Given the description of an element on the screen output the (x, y) to click on. 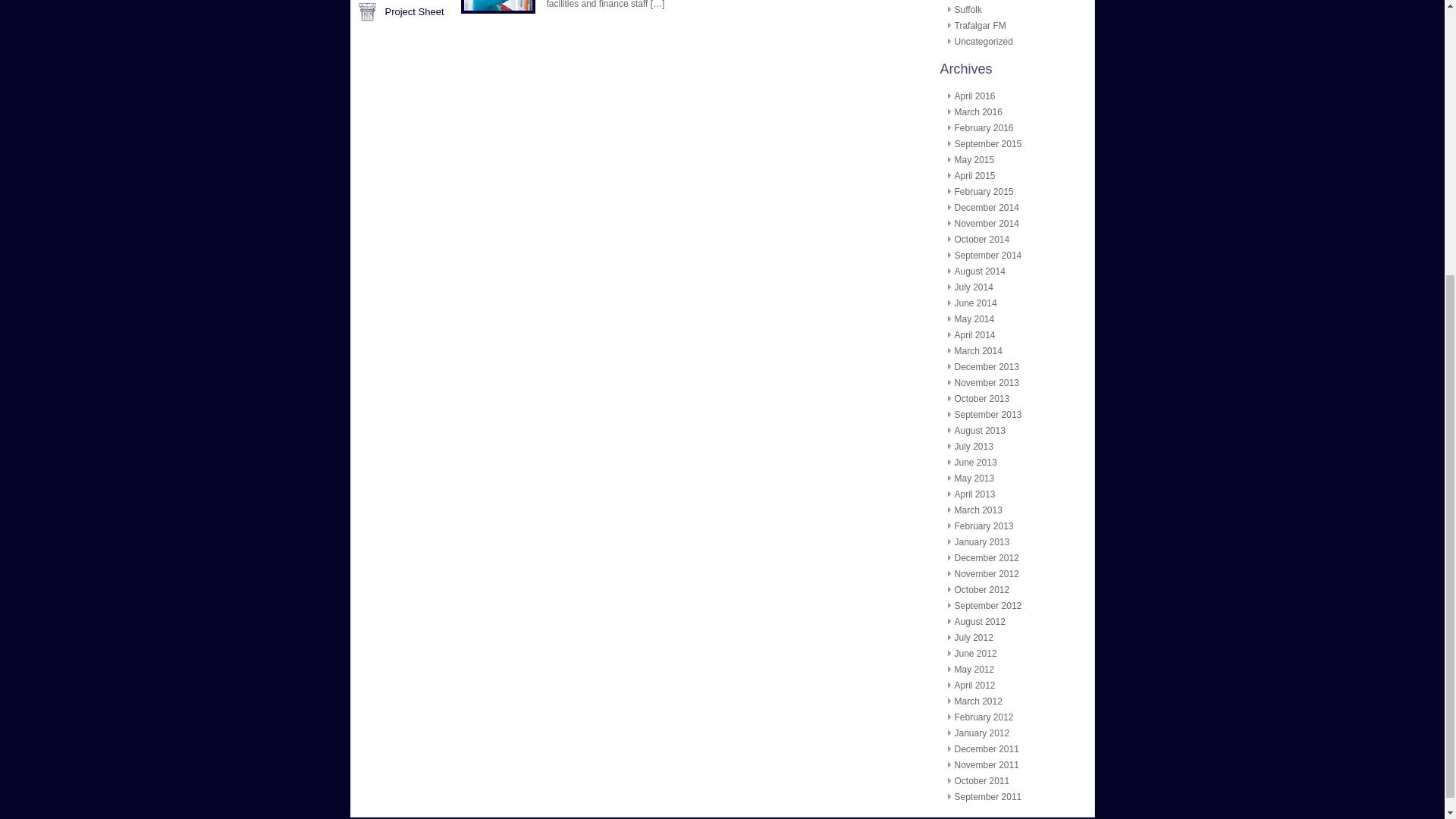
March 2016 (977, 112)
February 2016 (983, 127)
Trafalgar FM (979, 25)
April 2016 (973, 95)
Uncategorized (982, 41)
Project Sheet (414, 11)
Suffolk (967, 9)
September 2015 (987, 143)
May 2015 (973, 159)
April 2015 (973, 175)
